Given the description of an element on the screen output the (x, y) to click on. 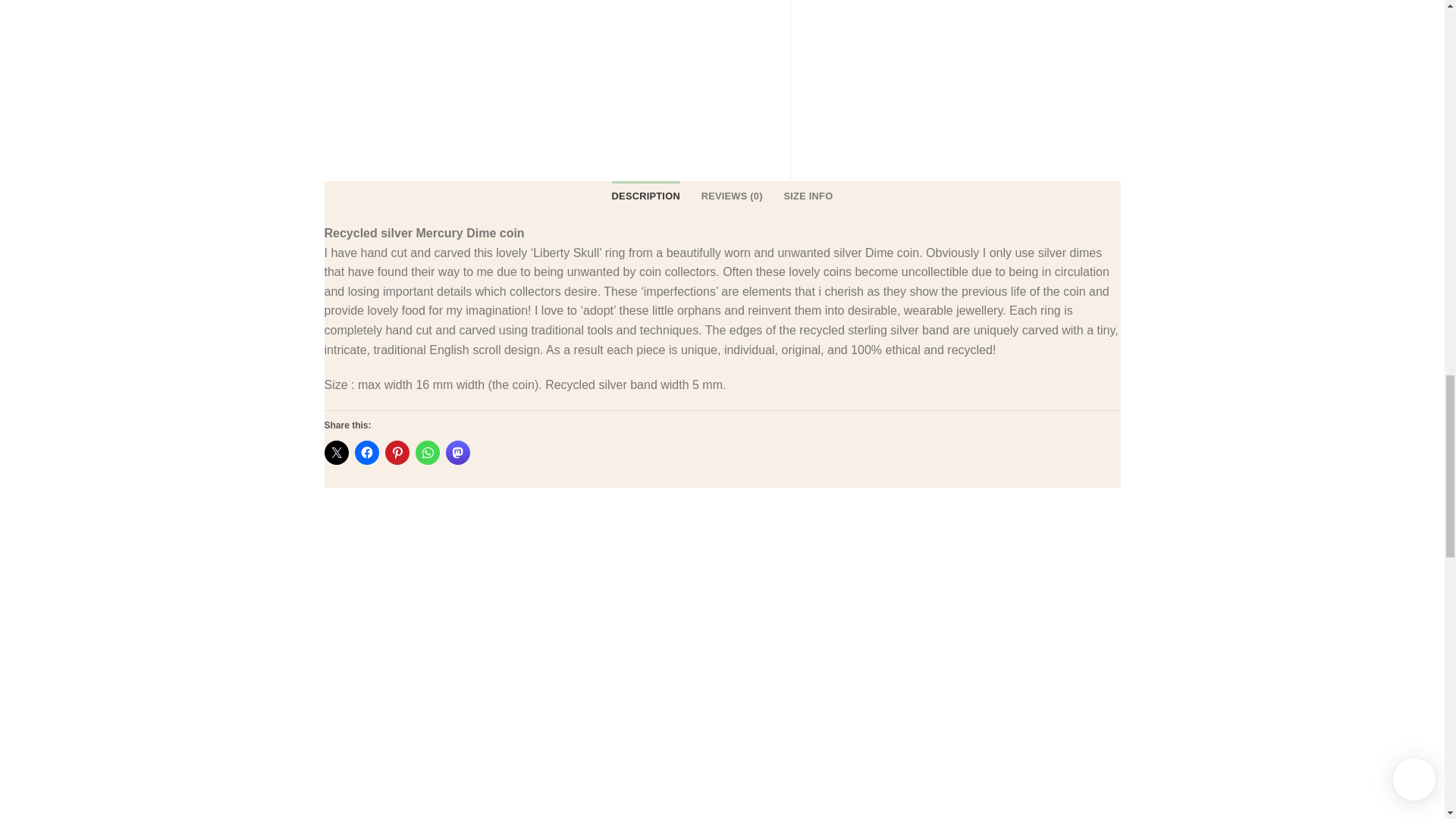
Click to share on Facebook (366, 452)
Click to share on Pinterest (397, 452)
Click to share on X (336, 452)
